Given the description of an element on the screen output the (x, y) to click on. 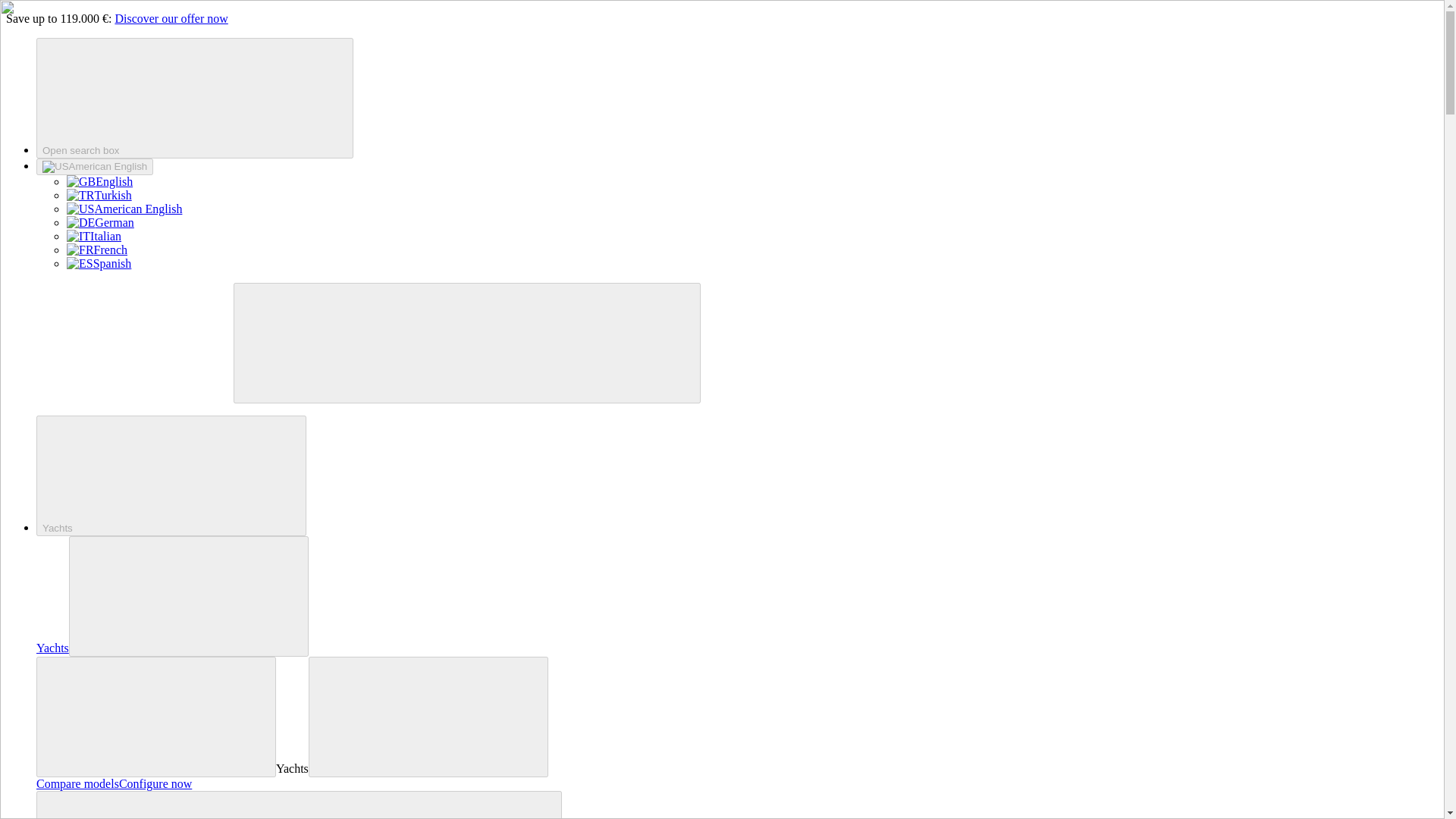
French (97, 249)
Configure now (155, 783)
Turkish (99, 195)
Yachts (170, 475)
Hanse World (299, 805)
Italian (93, 236)
Compare models (77, 783)
Yachts (52, 647)
Configure now (155, 783)
American English (124, 208)
Compare models (77, 783)
Hanse Yachts (118, 394)
Open search box (194, 97)
English (99, 181)
Spanish (98, 263)
